Given the description of an element on the screen output the (x, y) to click on. 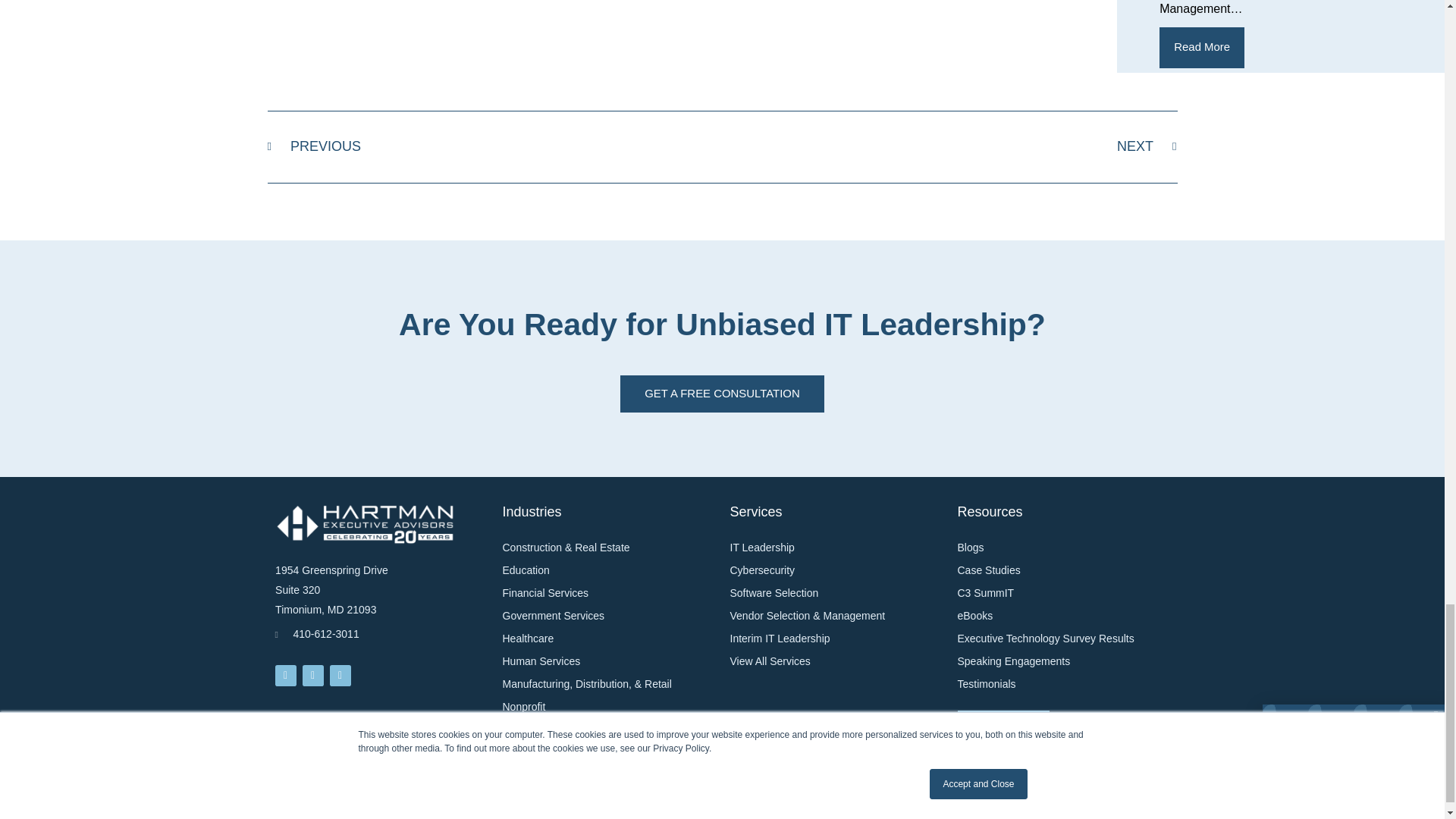
410-612-3011 (380, 639)
GET A FREE CONSULTATION (722, 393)
Facebook (949, 146)
Read More (494, 146)
Linkedin (285, 675)
Twitter (1201, 47)
